Given the description of an element on the screen output the (x, y) to click on. 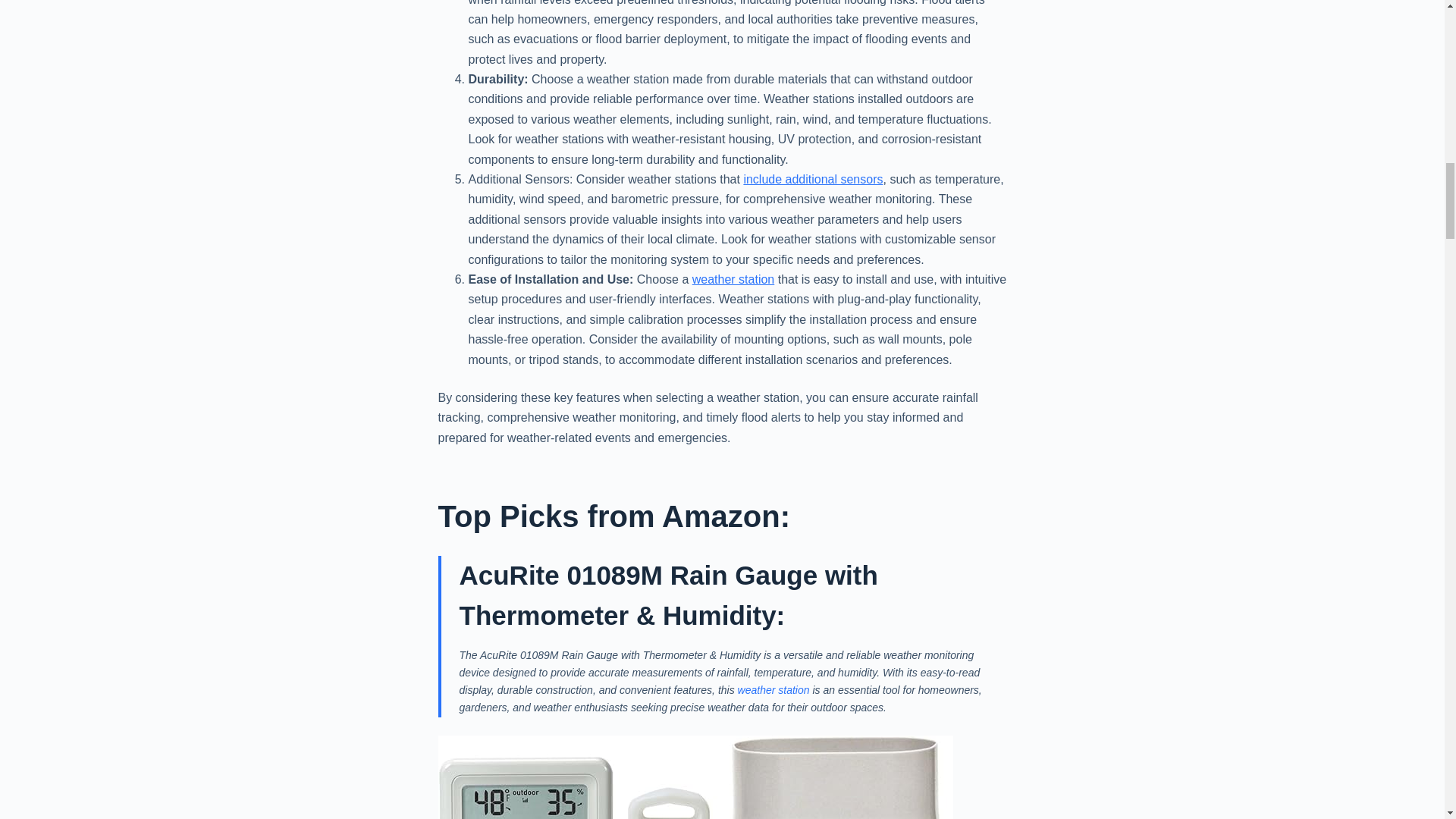
weather station (733, 278)
include additional sensors (812, 178)
weather station (773, 689)
